Given the description of an element on the screen output the (x, y) to click on. 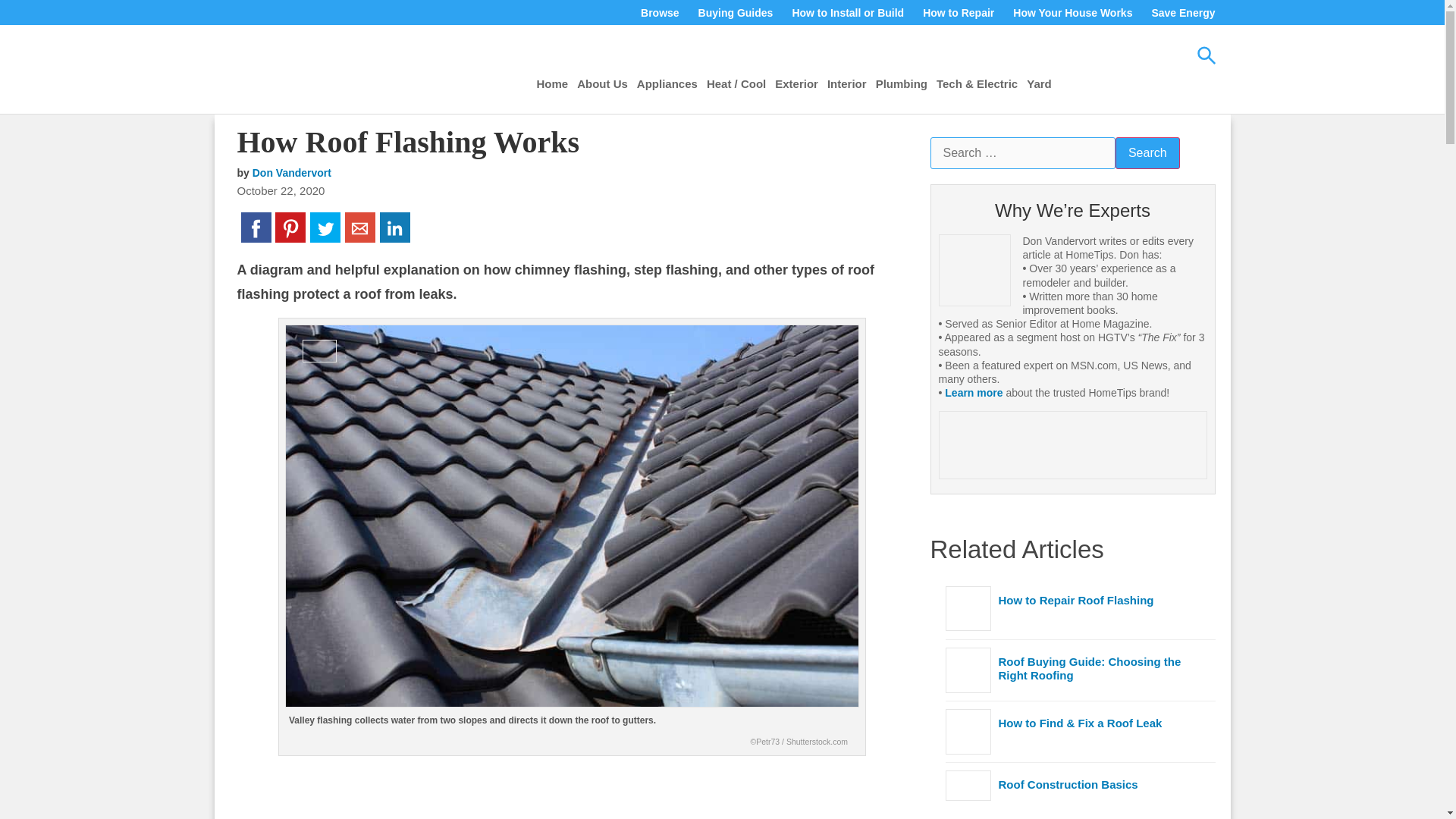
How Your House Works (1072, 12)
How to Install or Build (847, 12)
Search Icon A magnifying glass icon. (1205, 54)
Search (1147, 152)
Home (553, 83)
Save Energy (1182, 12)
Buying Guides (735, 12)
About Us (601, 83)
How to Repair (957, 12)
Search (1147, 152)
Browse (659, 12)
About Us (601, 83)
Appliances (666, 83)
Home (552, 83)
Appliances (667, 83)
